Given the description of an element on the screen output the (x, y) to click on. 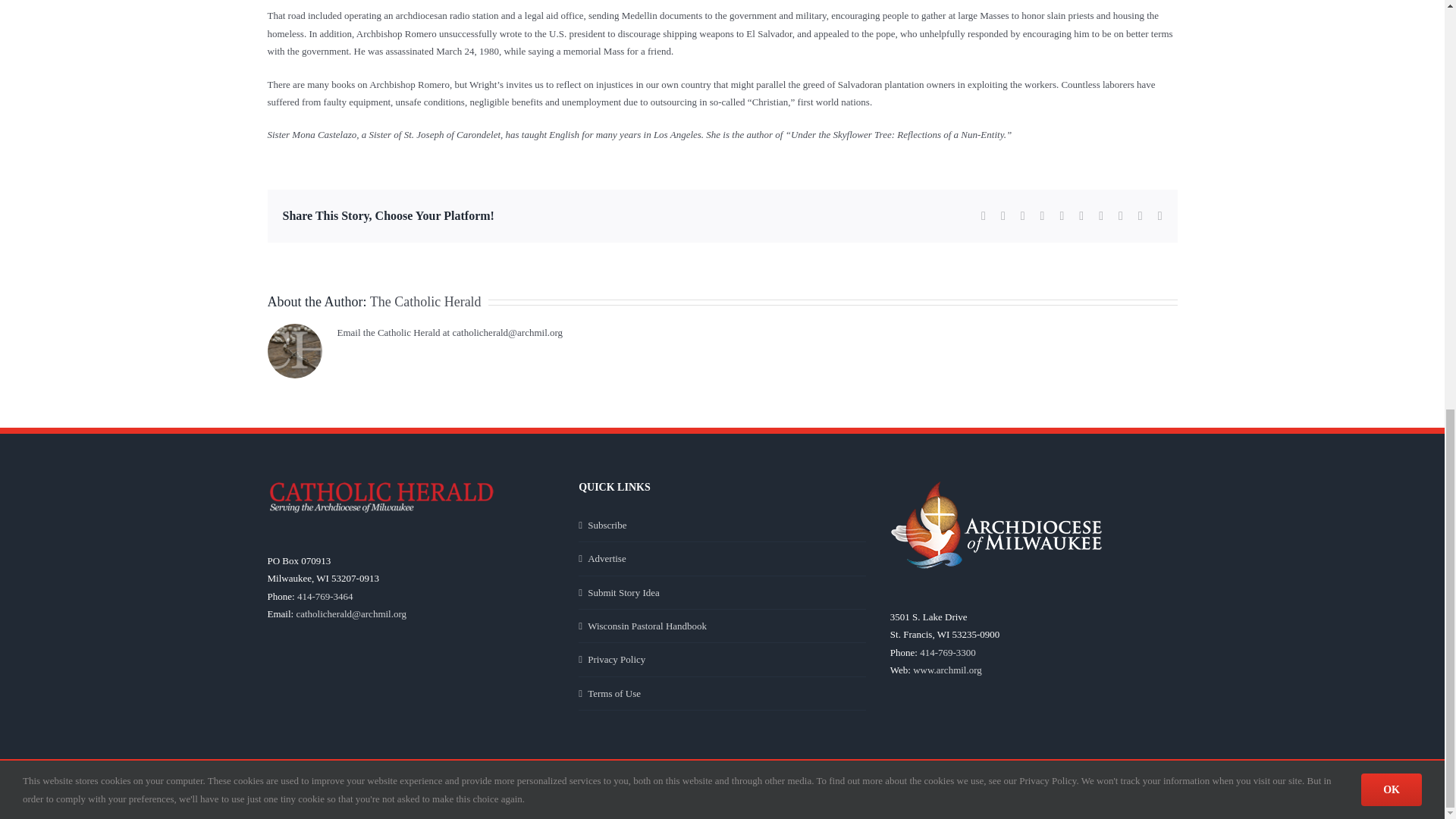
Posts by The Catholic Herald (425, 301)
